Given the description of an element on the screen output the (x, y) to click on. 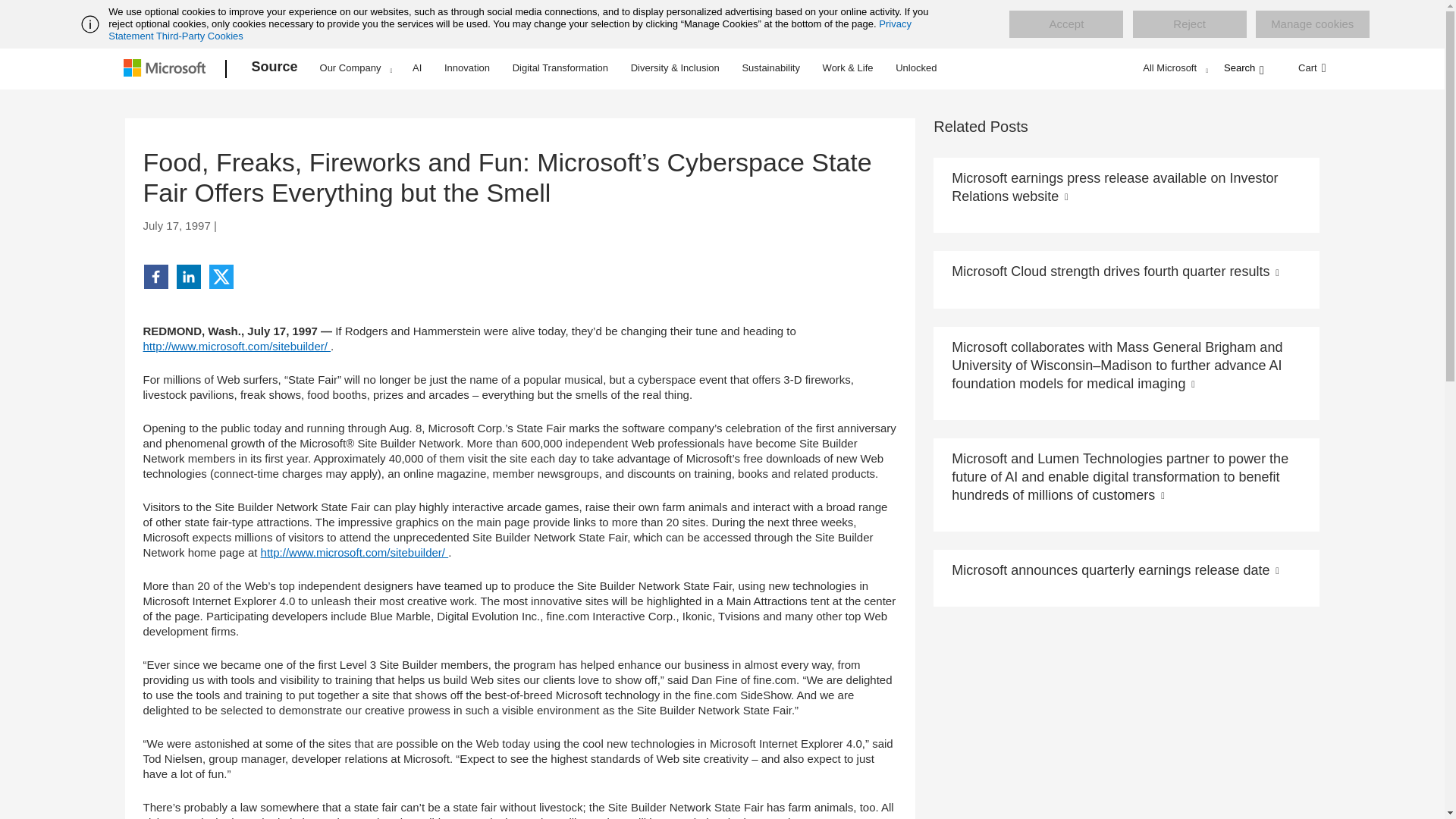
Our Company (355, 67)
Unlocked (915, 67)
Microsoft (167, 69)
Third-Party Cookies (199, 35)
Innovation (467, 67)
Privacy Statement (509, 29)
Reject (1189, 23)
All Microsoft (1173, 67)
Digital Transformation (559, 67)
